Given the description of an element on the screen output the (x, y) to click on. 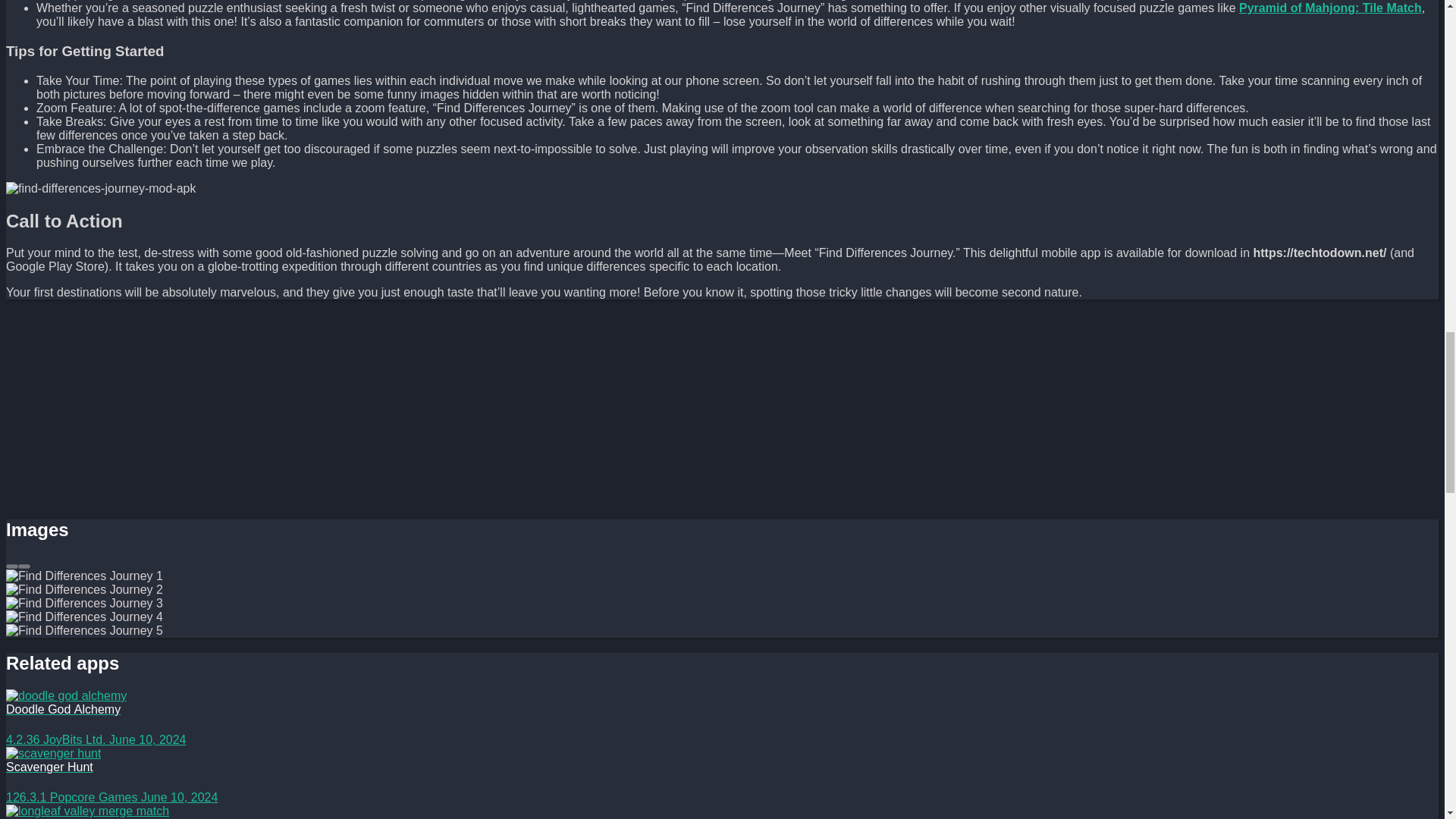
Previous (11, 566)
Pyramid of Mahjong: Tile Match (1330, 7)
Find Differences Journey 4 (100, 188)
Next (23, 566)
